Given the description of an element on the screen output the (x, y) to click on. 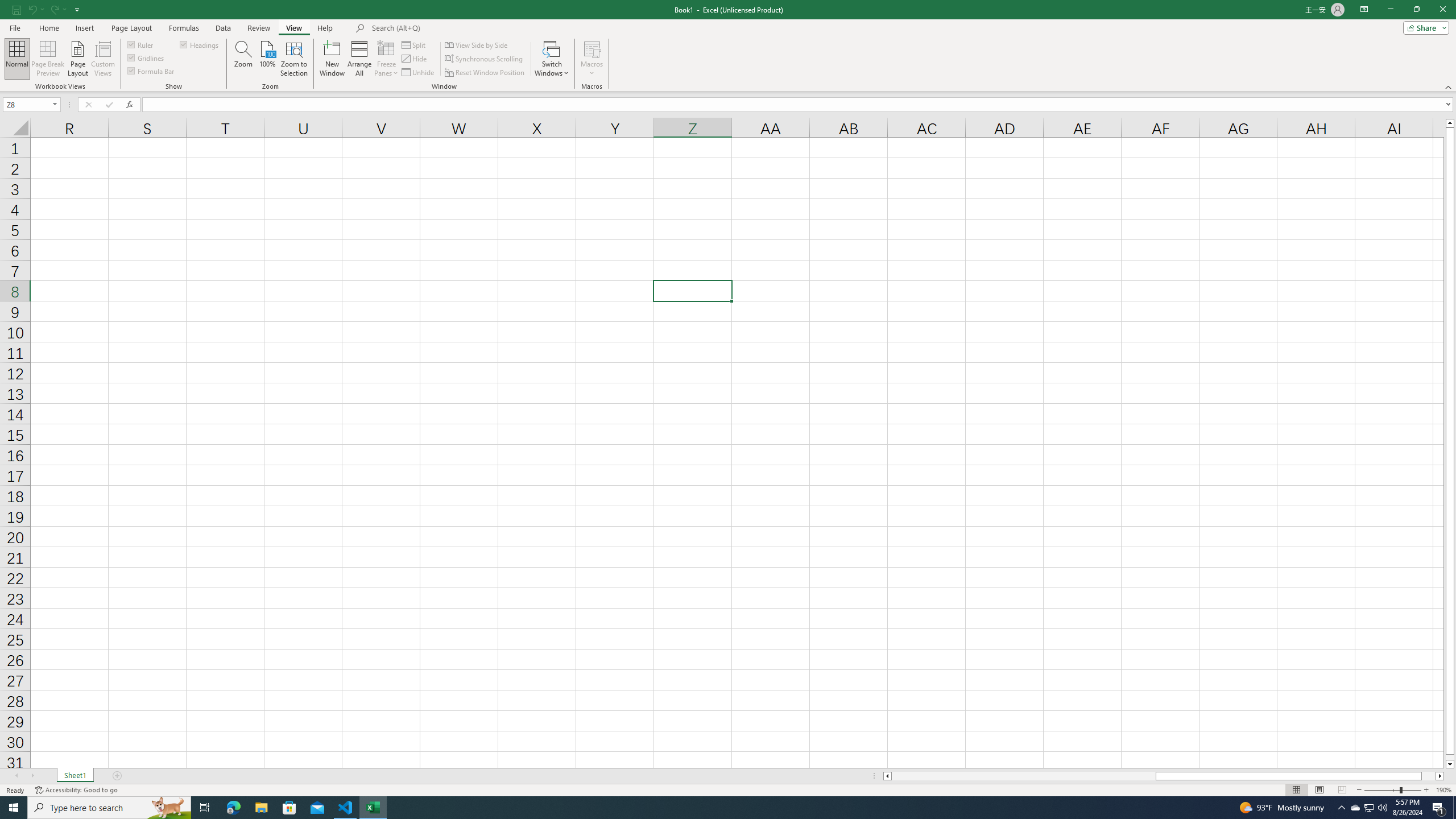
Switch Windows (551, 58)
Gridlines (146, 56)
Split (414, 44)
100% (266, 58)
